Given the description of an element on the screen output the (x, y) to click on. 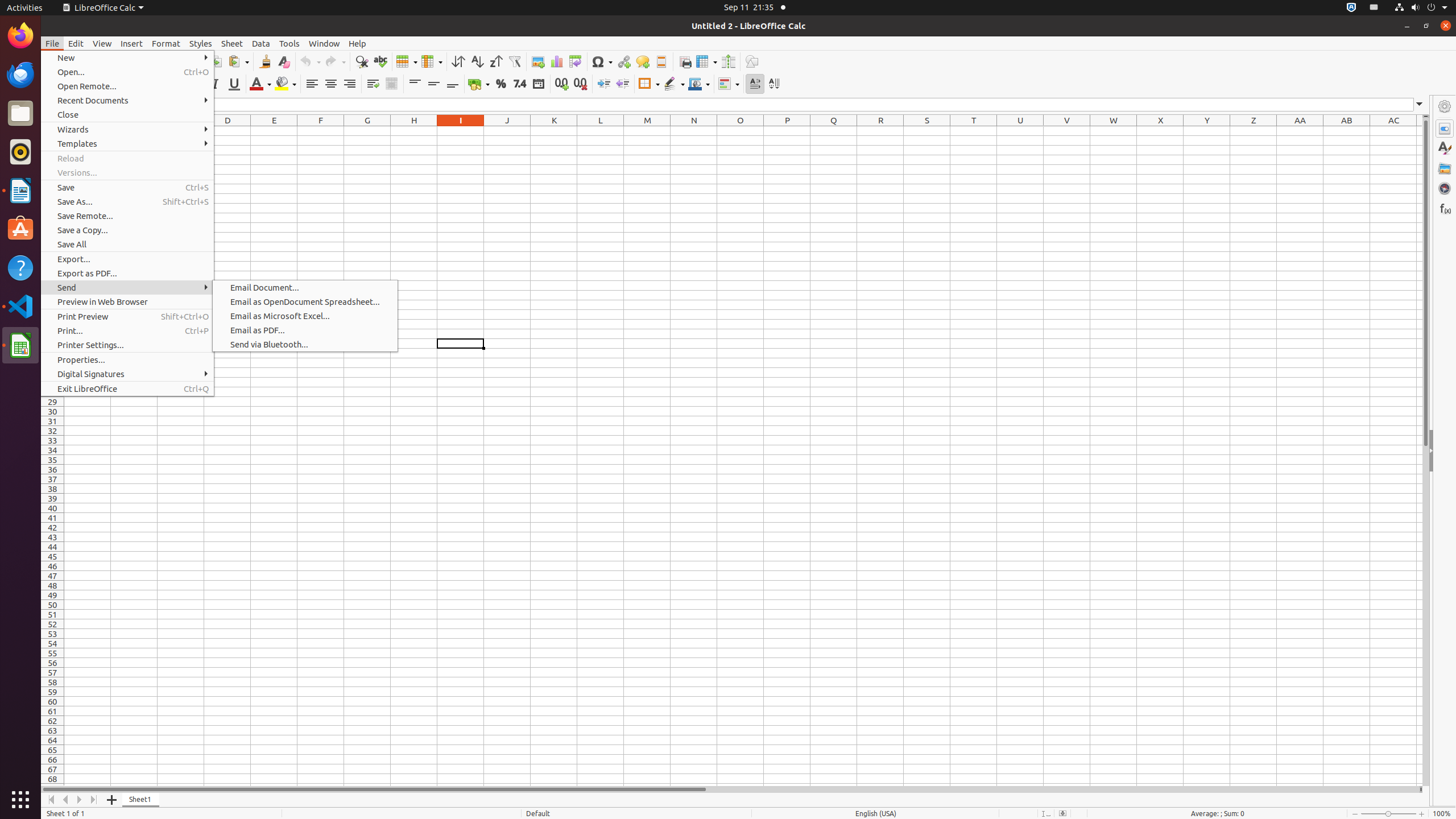
Print Area Element type: push-button (684, 61)
Print... Element type: menu-item (126, 330)
Image Element type: push-button (537, 61)
Center Vertically Element type: push-button (433, 83)
J1 Element type: table-cell (507, 130)
